Given the description of an element on the screen output the (x, y) to click on. 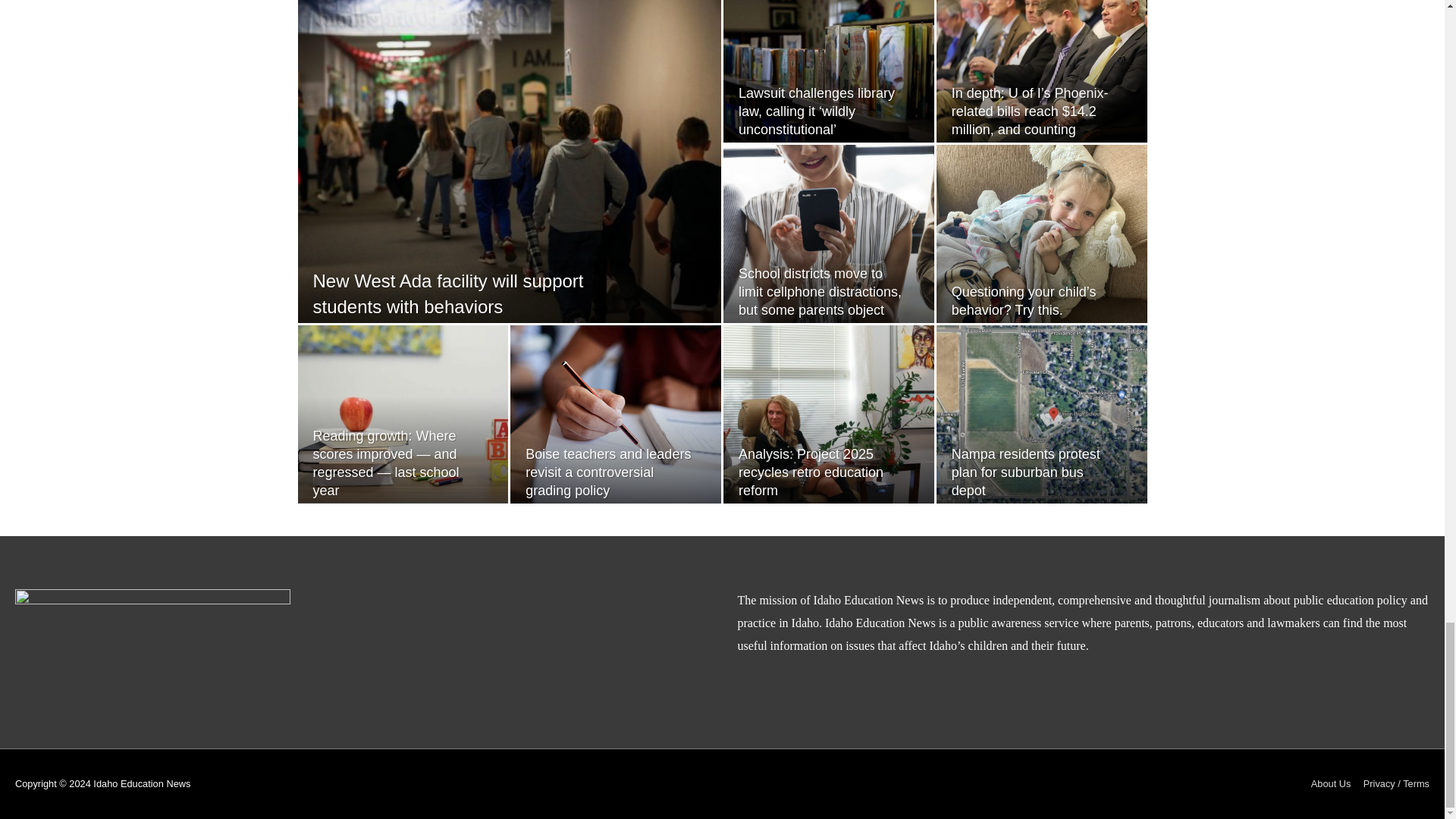
Analysis: Project 2025 recycles retro education reform (810, 471)
New West Ada facility will support students with behaviors (448, 293)
